Given the description of an element on the screen output the (x, y) to click on. 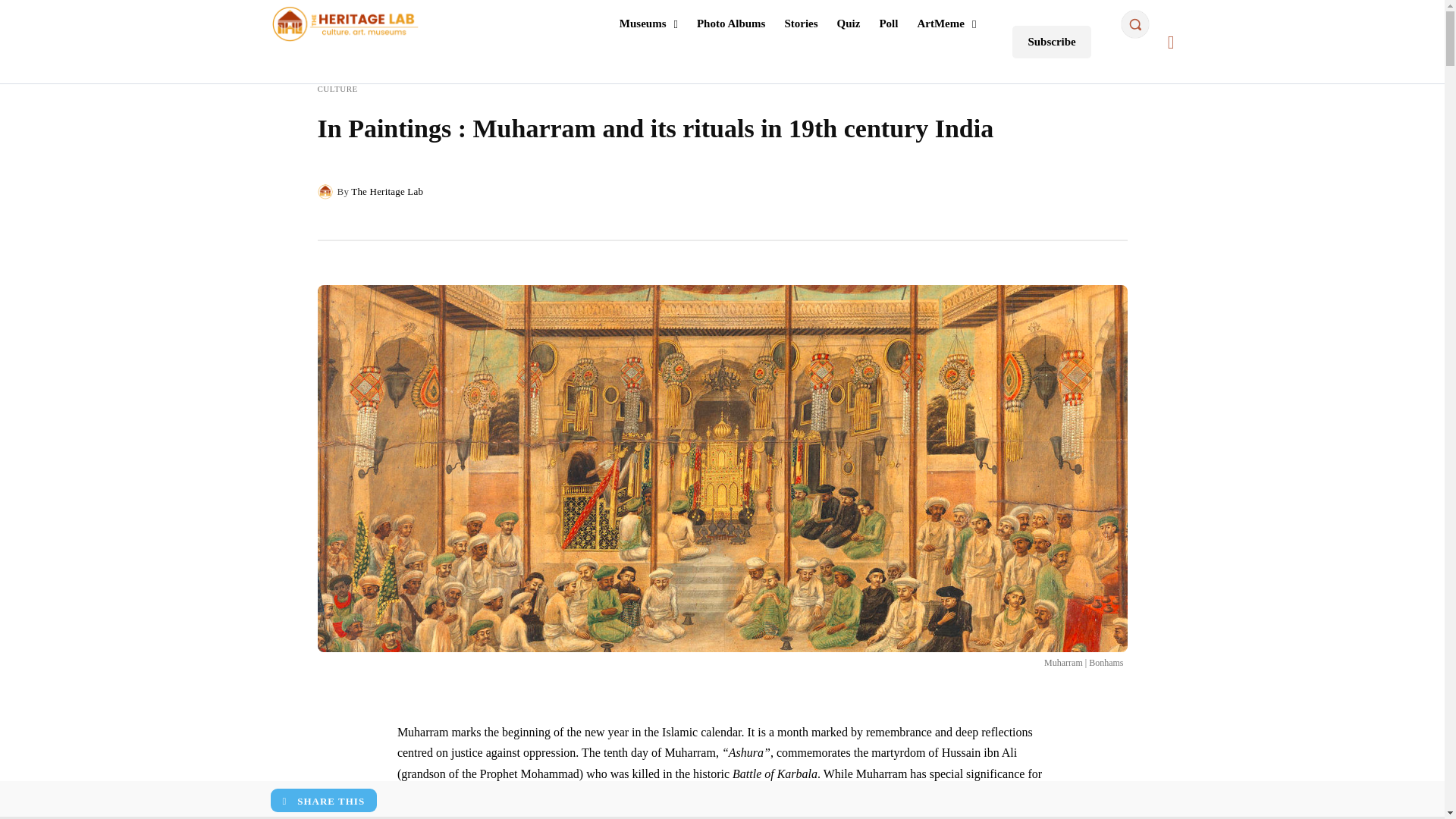
Museums (649, 24)
